Given the description of an element on the screen output the (x, y) to click on. 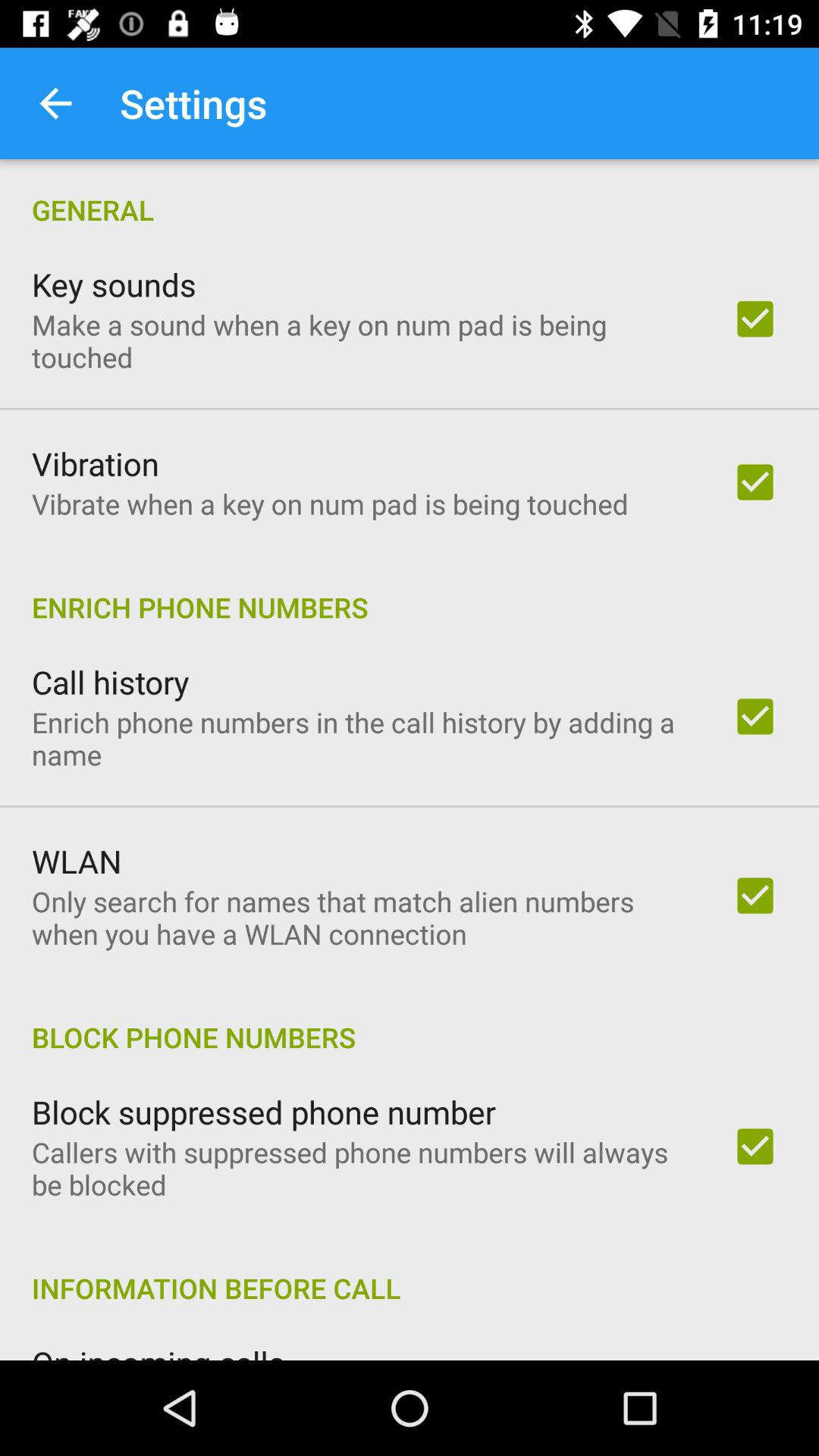
scroll until the on incoming calls icon (157, 1350)
